Given the description of an element on the screen output the (x, y) to click on. 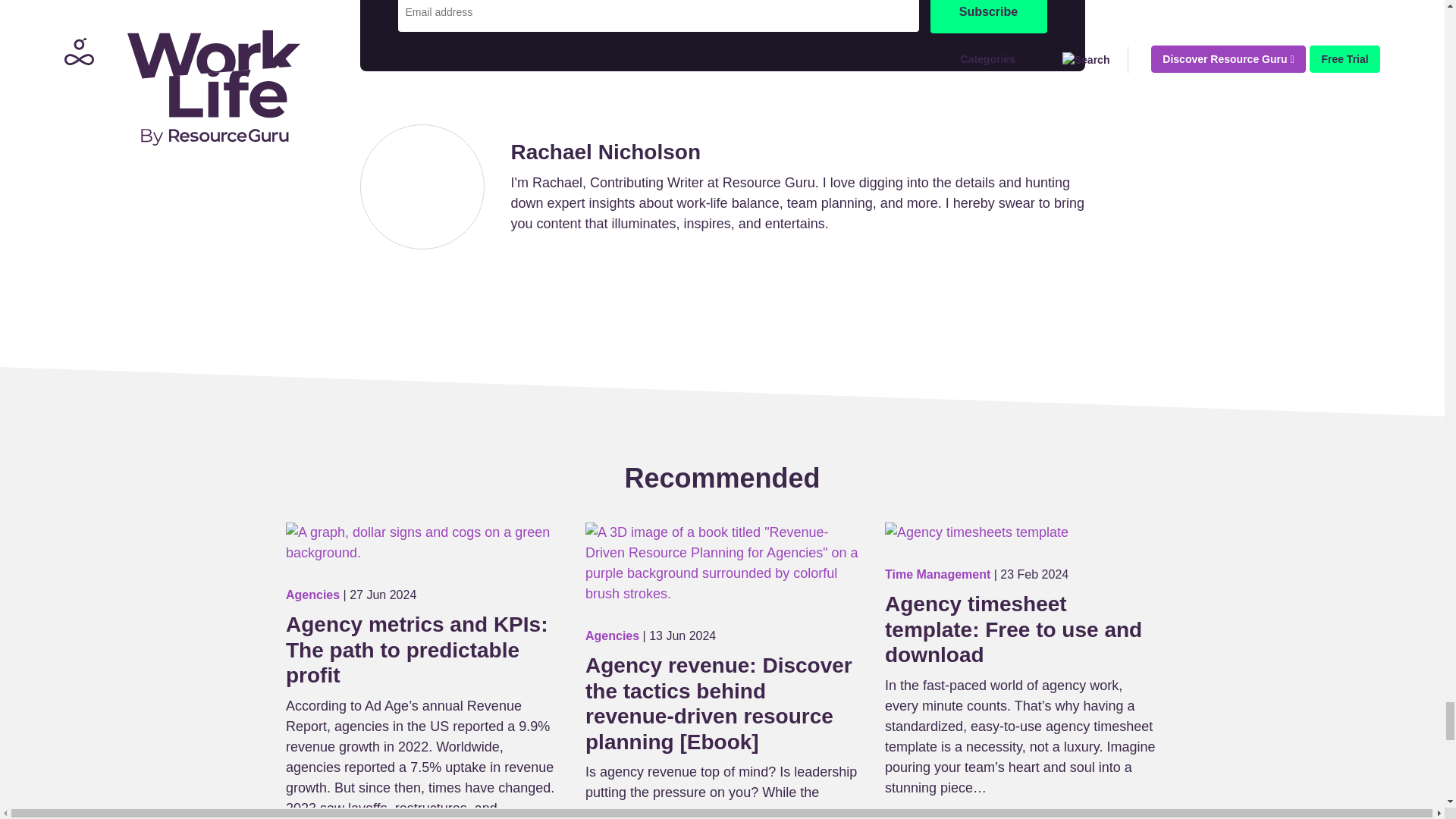
Subscribe (988, 16)
